Given the description of an element on the screen output the (x, y) to click on. 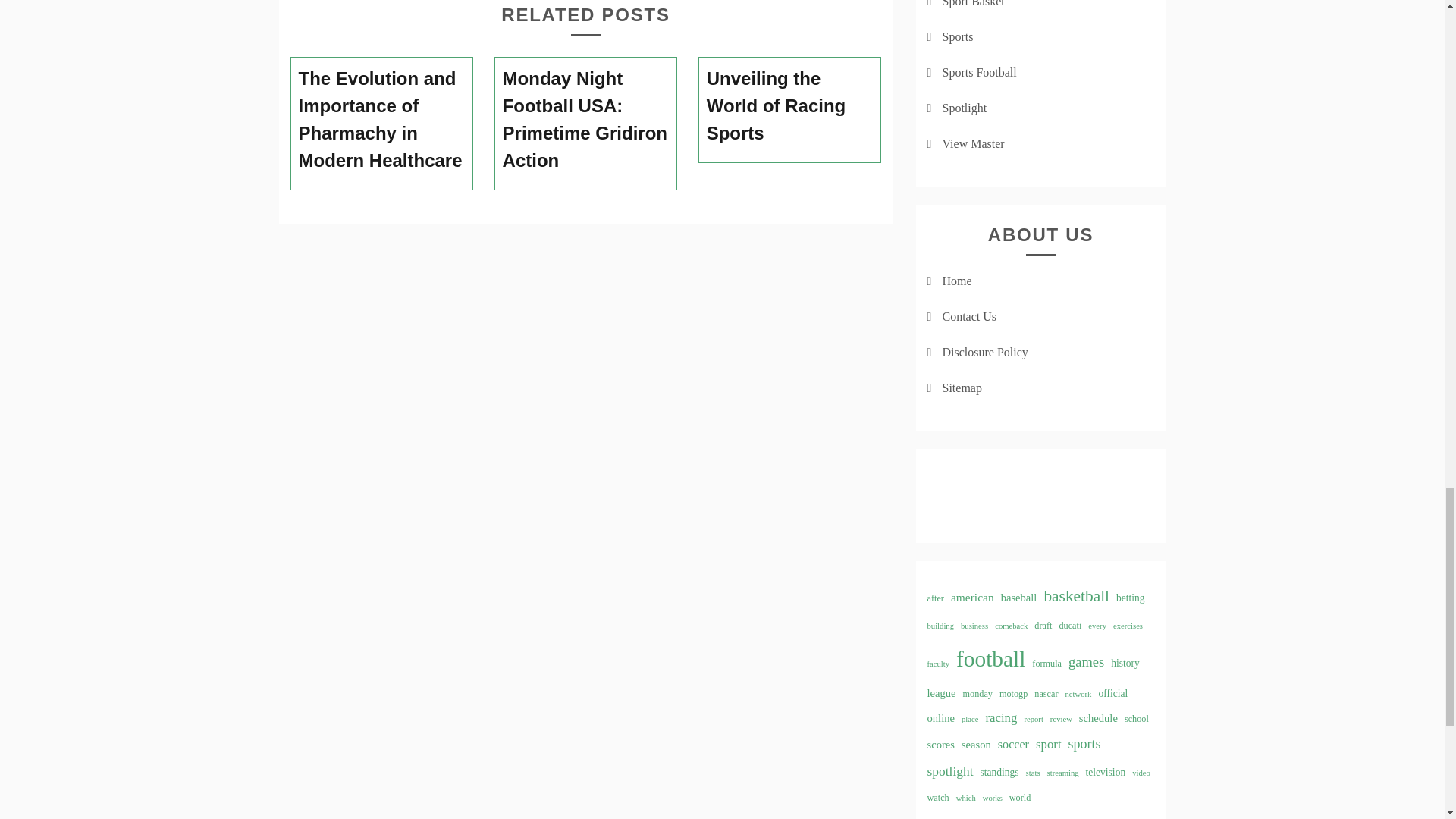
Monday Night Football USA: Primetime Gridiron Action (585, 119)
Unveiling the World of Racing Sports (789, 106)
